Given the description of an element on the screen output the (x, y) to click on. 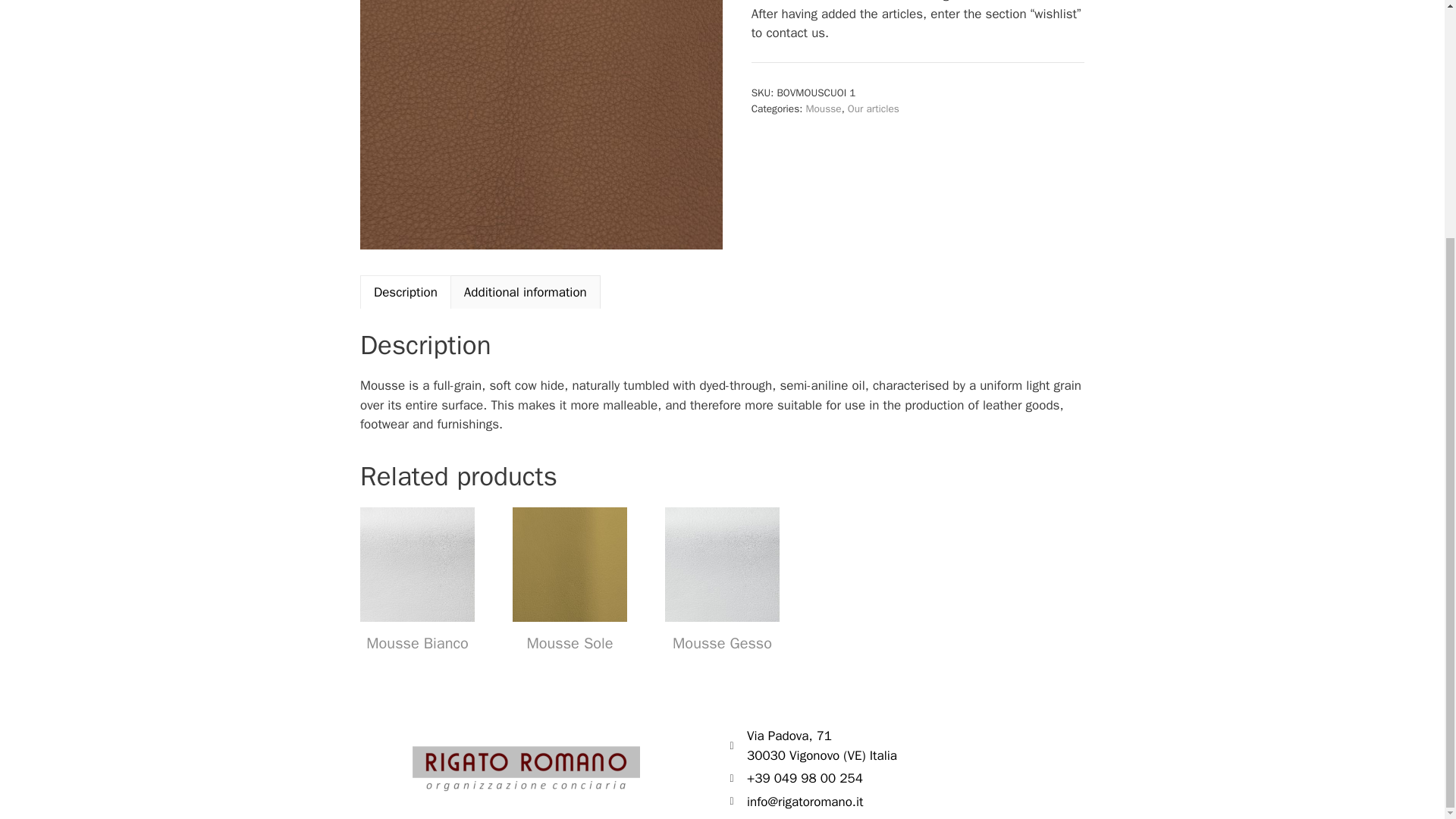
Cuoio (540, 125)
